Given the description of an element on the screen output the (x, y) to click on. 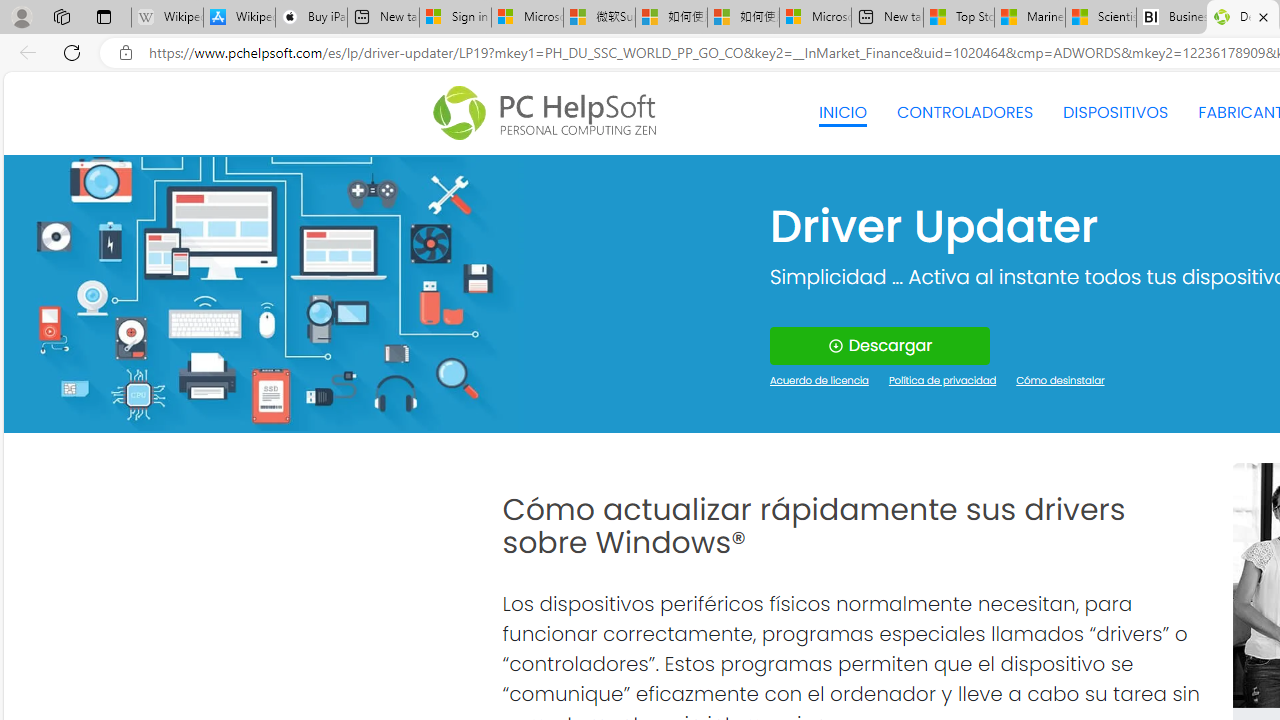
DISPOSITIVOS (1115, 112)
CONTROLADORES (965, 112)
Logo Personal Computing (550, 113)
Download Icon (834, 345)
Download Icon Descargar (879, 345)
